Given the description of an element on the screen output the (x, y) to click on. 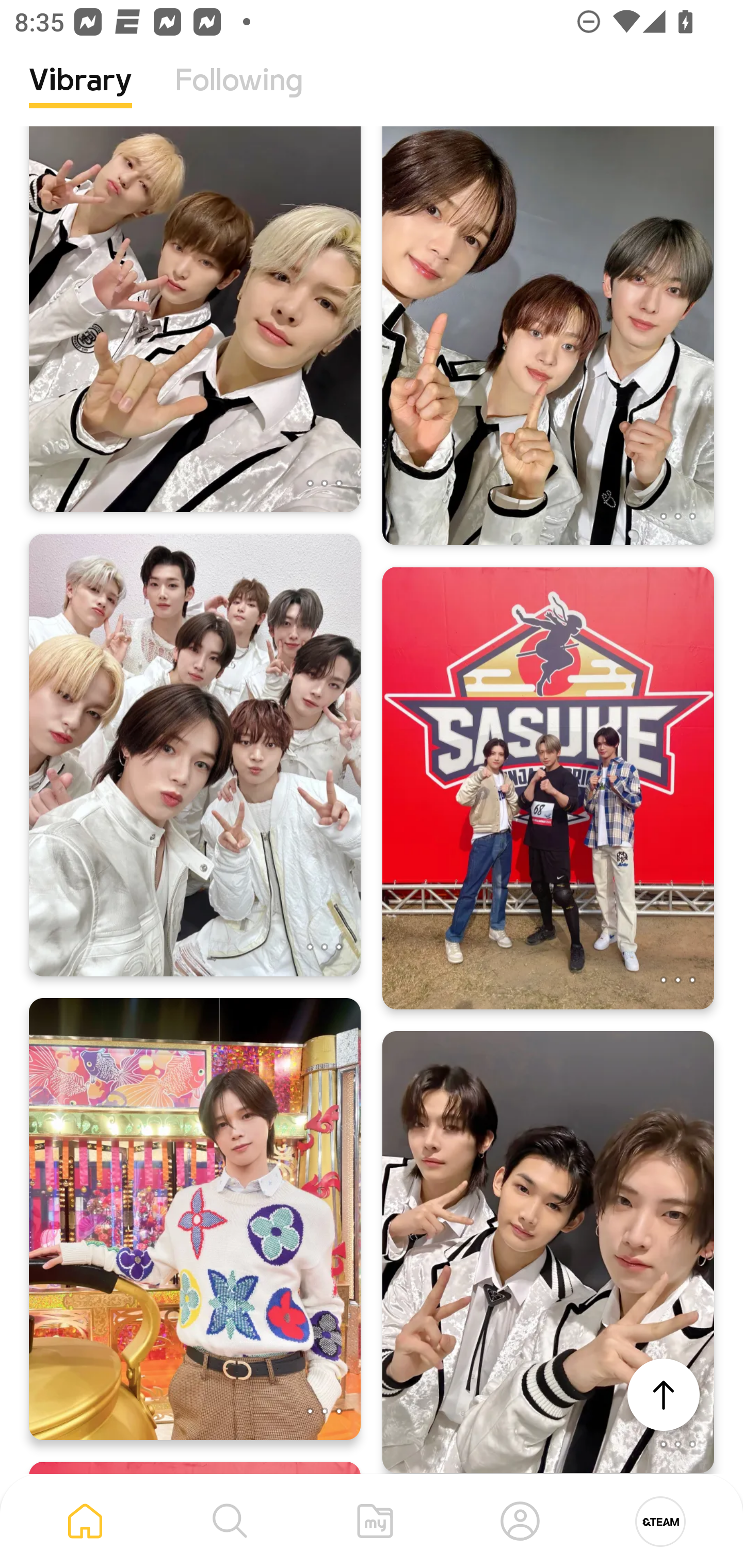
Vibrary (80, 95)
Following (239, 95)
